Given the description of an element on the screen output the (x, y) to click on. 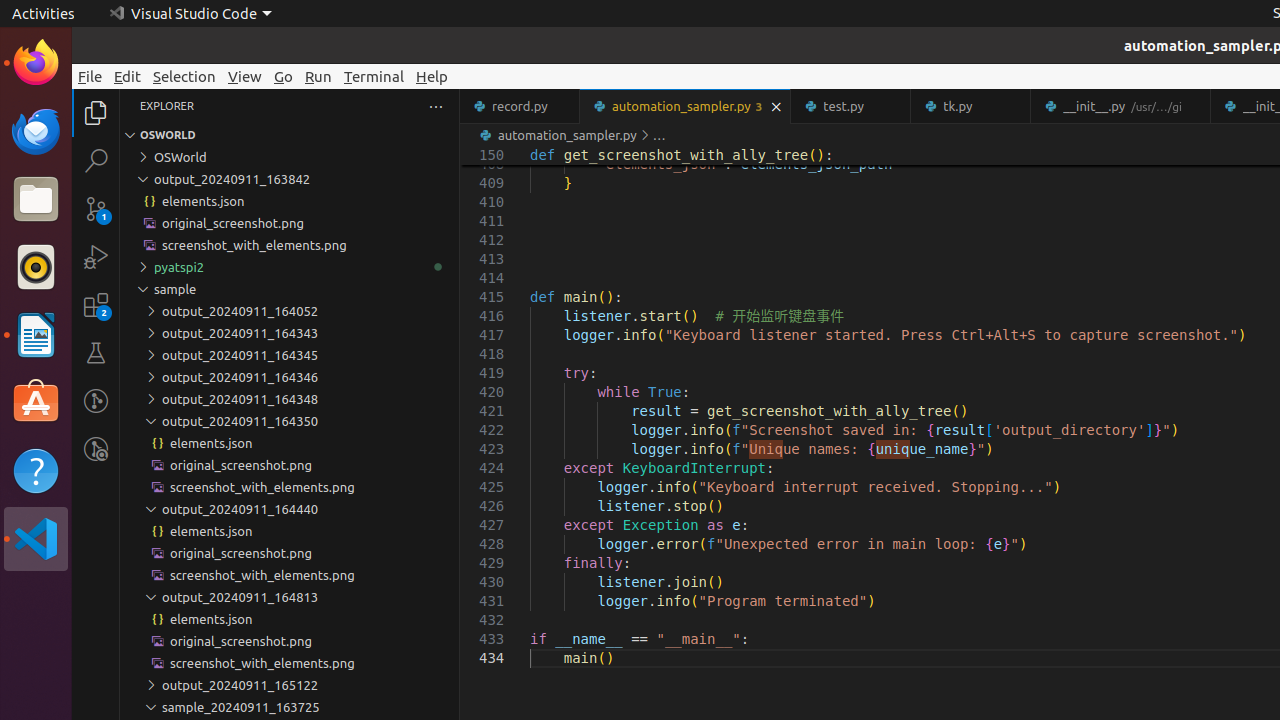
Firefox Web Browser Element type: push-button (36, 63)
output_20240911_164348 Element type: tree-item (289, 399)
